Given the description of an element on the screen output the (x, y) to click on. 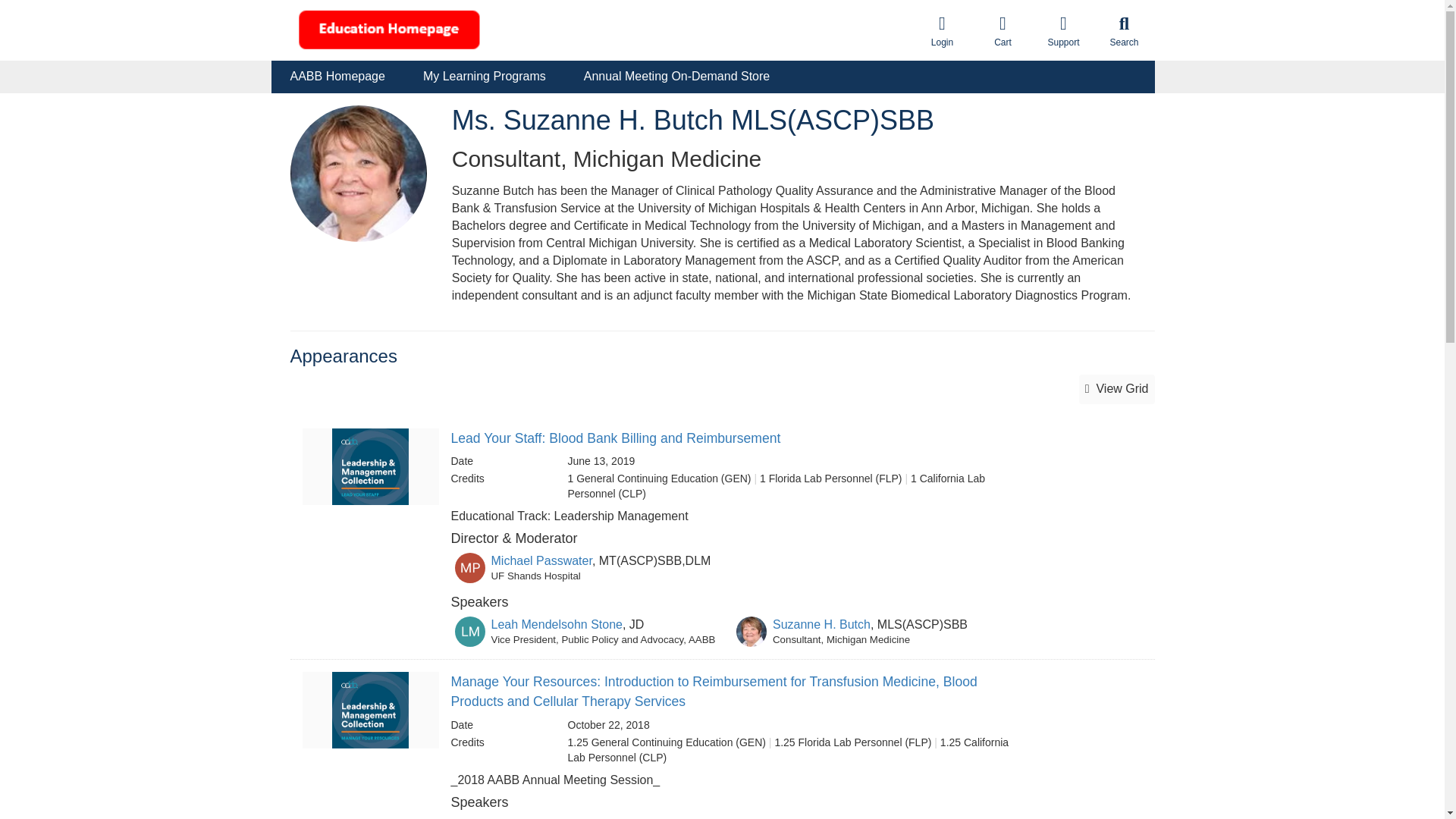
Cart (1002, 30)
Search (1123, 30)
Suzanne H. Butch (821, 624)
  View Grid (1116, 389)
AABB Homepage (337, 76)
My Learning Programs (484, 76)
Speaker Image for Michael Passwater (469, 567)
Mary Berg (800, 818)
Login (941, 30)
Speaker Image for Leah Mendelsohn Stone (469, 631)
Lead Your Staff: Blood Bank Billing and Reimbursement (614, 437)
Login (941, 30)
Support (1062, 30)
Speaker Image for Suzanne Butch (751, 631)
